Given the description of an element on the screen output the (x, y) to click on. 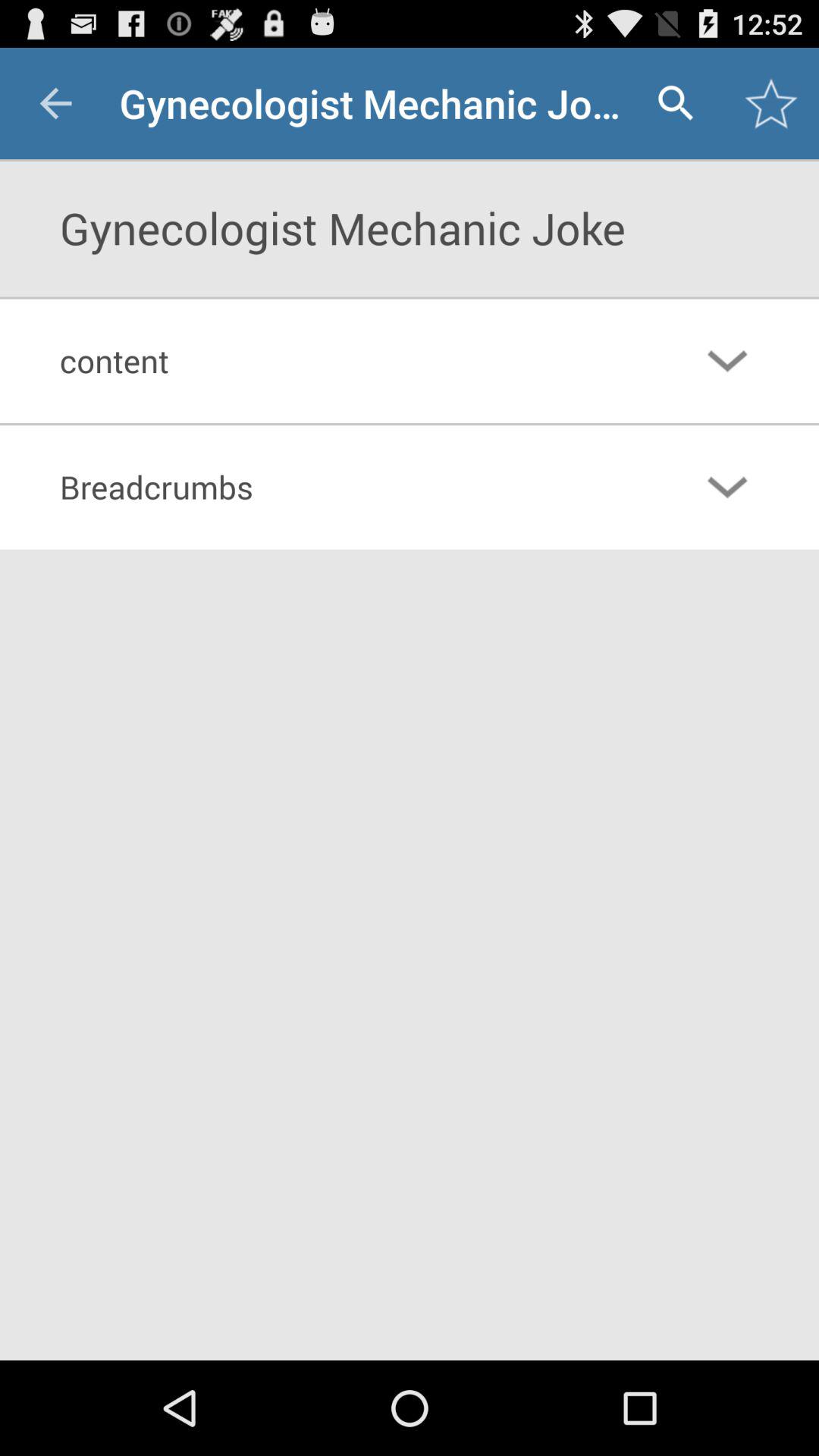
launch the app to the right of gynecologist mechanic joke icon (675, 103)
